Given the description of an element on the screen output the (x, y) to click on. 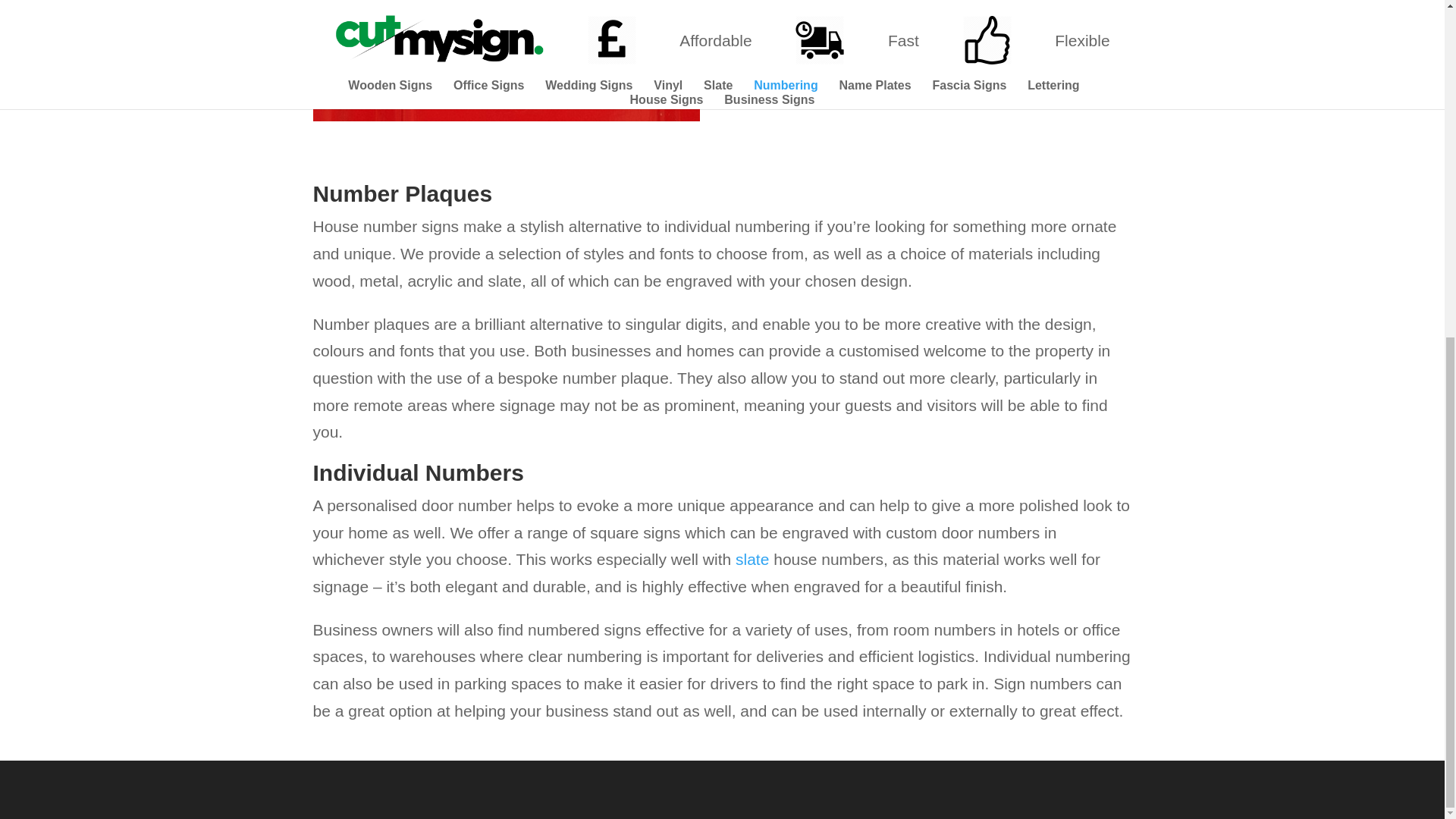
slate (751, 559)
